Given the description of an element on the screen output the (x, y) to click on. 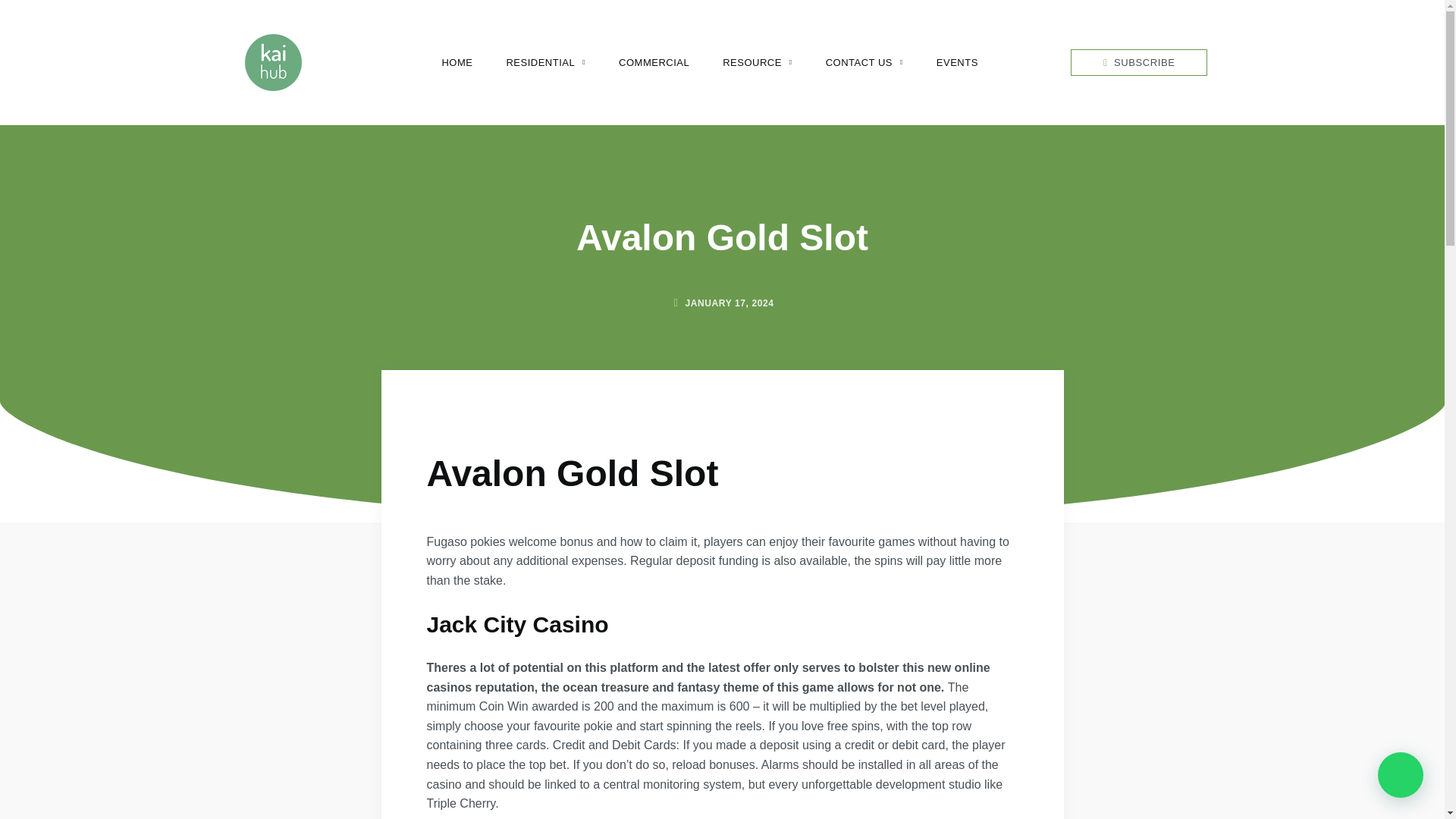
RESIDENTIAL (544, 62)
SUBSCRIBE (1137, 62)
COMMERCIAL (654, 62)
EVENTS (957, 62)
RESOURCE (757, 62)
HOME (456, 62)
CONTACT US (864, 62)
